Given the description of an element on the screen output the (x, y) to click on. 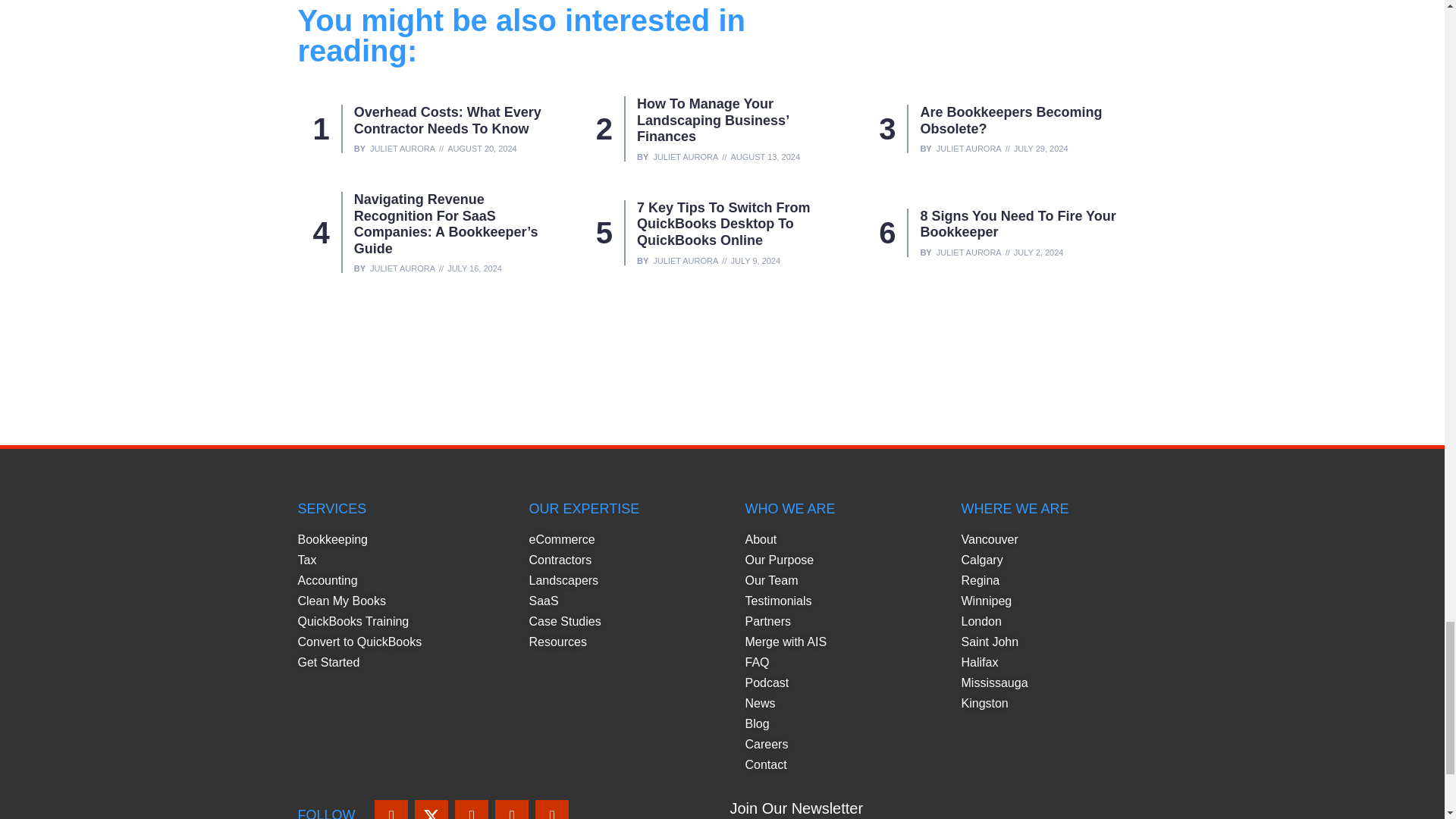
Overhead Costs: What Every Contractor Needs to Know (447, 120)
Are Bookkeepers Becoming Obsolete? (1011, 120)
8 Signs You Need to Fire Your Bookkeeper (1017, 224)
